Given the description of an element on the screen output the (x, y) to click on. 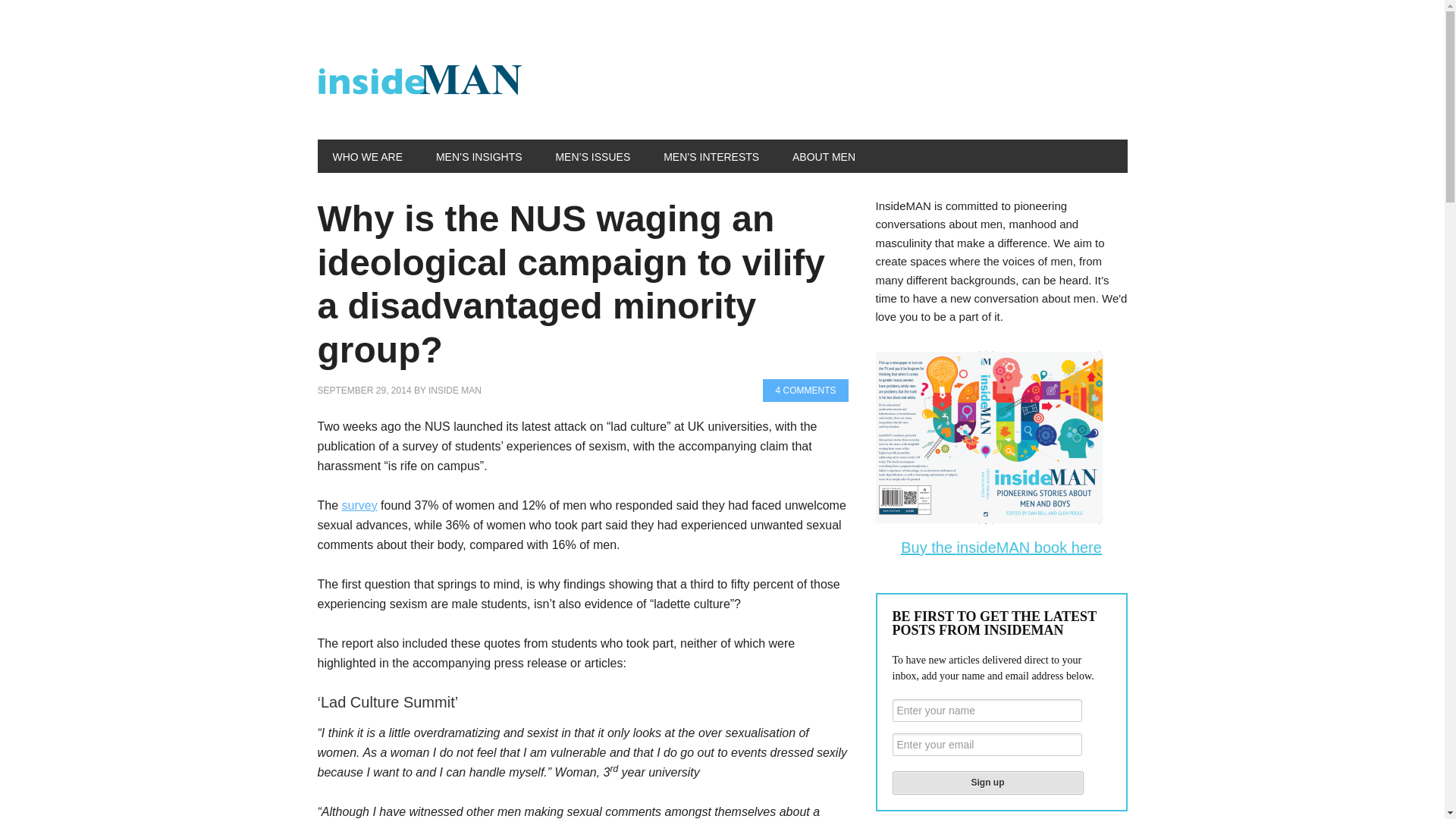
4 COMMENTS (804, 390)
Sign up (987, 782)
ABOUT MEN (823, 155)
Buy the insideMAN book here (1001, 547)
Sign up (987, 782)
WHO WE ARE (367, 155)
INSIDEMAN (419, 81)
survey (359, 504)
INSIDE MAN (454, 389)
